Given the description of an element on the screen output the (x, y) to click on. 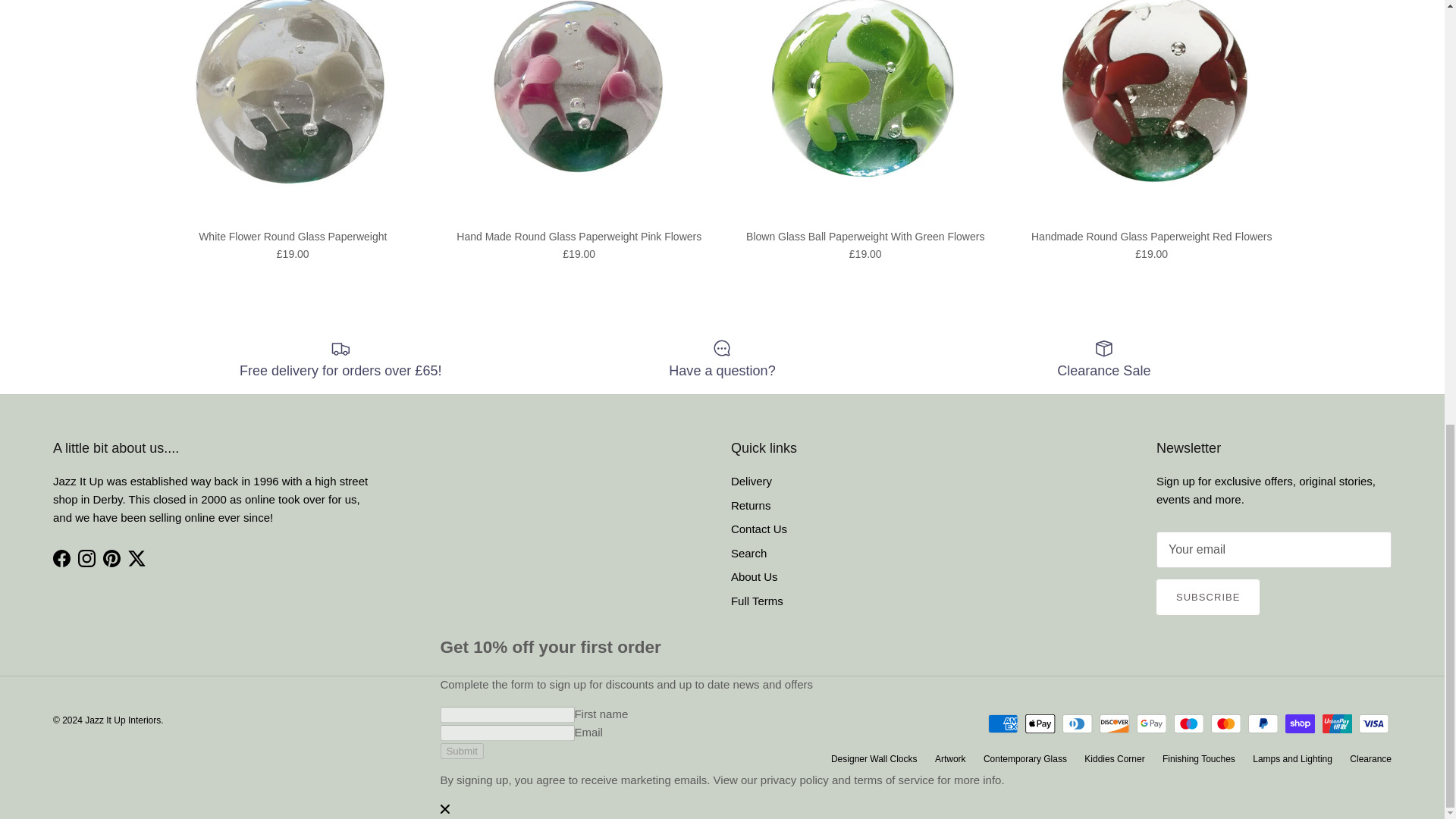
Jazz It Up Interiors on Pinterest (111, 558)
Jazz It Up Interiors on Twitter (136, 558)
American Express (1002, 723)
Jazz It Up Interiors on Instagram (87, 558)
Jazz It Up Interiors on Facebook (60, 558)
Apple Pay (1040, 723)
